Given the description of an element on the screen output the (x, y) to click on. 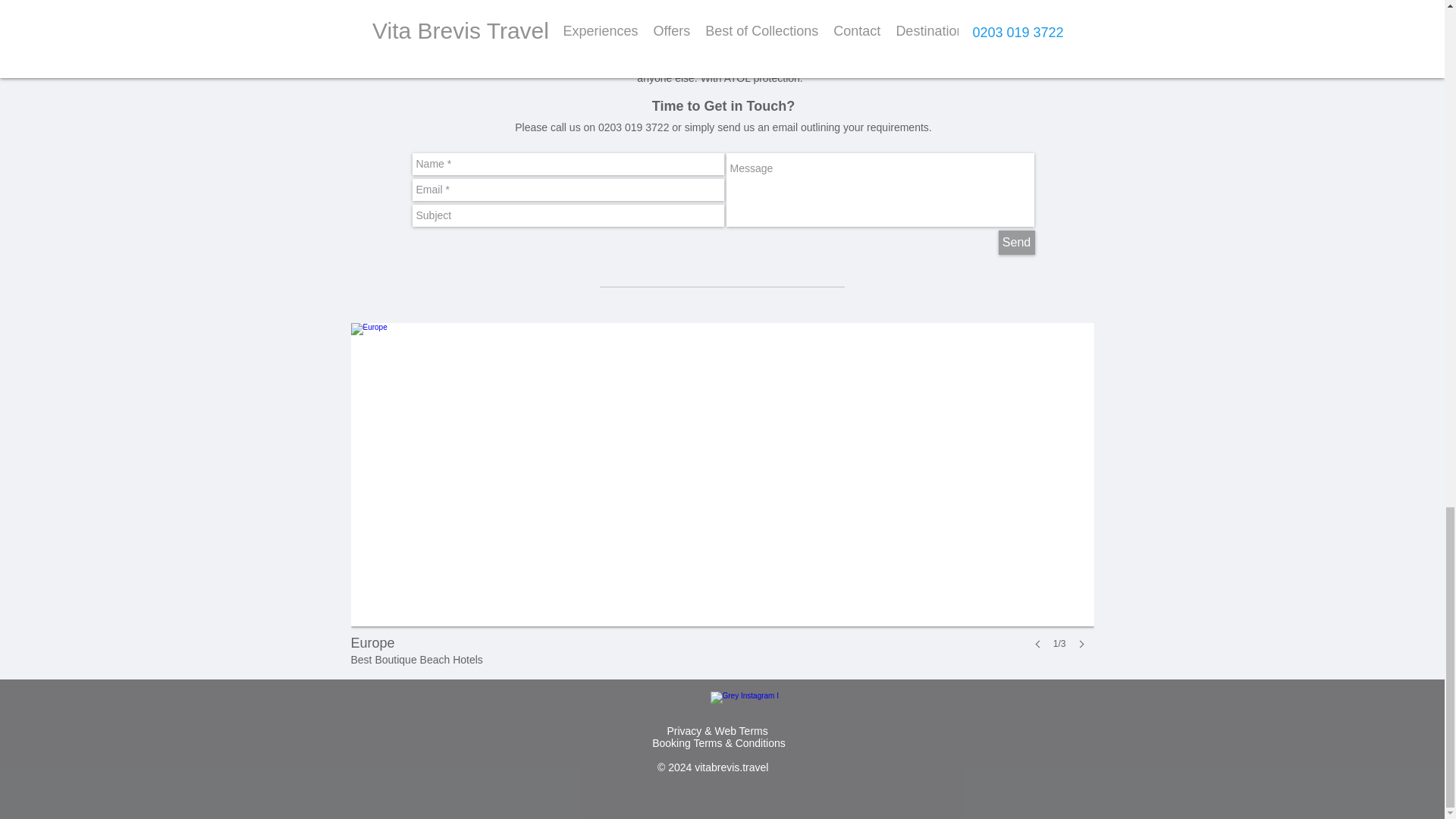
get in touch by email (444, 64)
Villa Thalassa (690, 13)
Send (1015, 242)
- 5 bedrooms (745, 27)
Villa Triton - 5 bedrooms (756, 13)
See more  (720, 3)
